Given the description of an element on the screen output the (x, y) to click on. 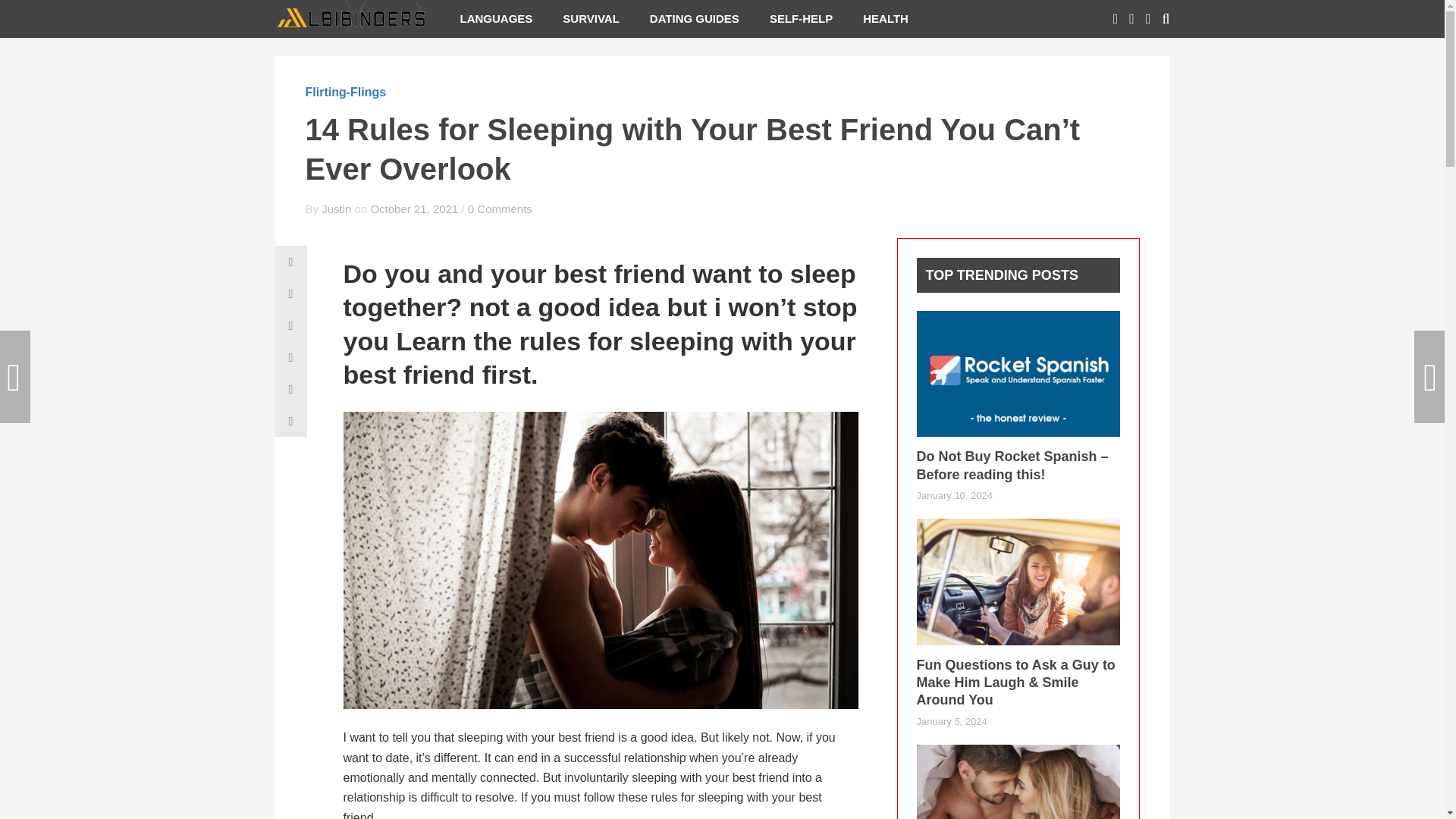
SURVIVAL (590, 18)
SELF-HELP (800, 18)
LANGUAGES (495, 18)
DATING GUIDES (694, 18)
